Given the description of an element on the screen output the (x, y) to click on. 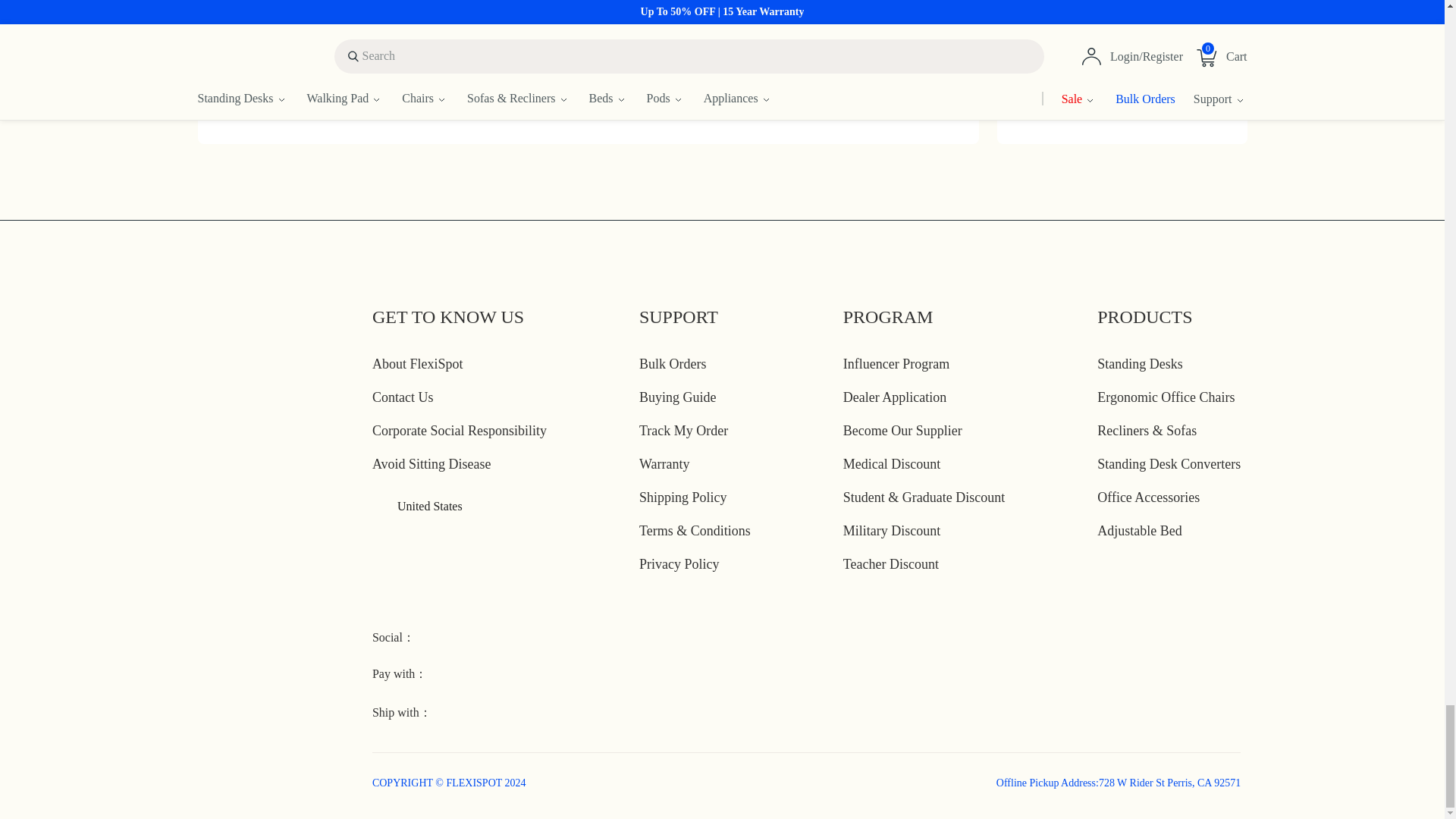
Visit FlexiSpot (260, 101)
About FlexiSpot (417, 363)
Bulk Orders (672, 363)
Avoid Sitting Disease (432, 463)
Corporate Social Responsibility (459, 430)
Contact Us (402, 396)
